Given the description of an element on the screen output the (x, y) to click on. 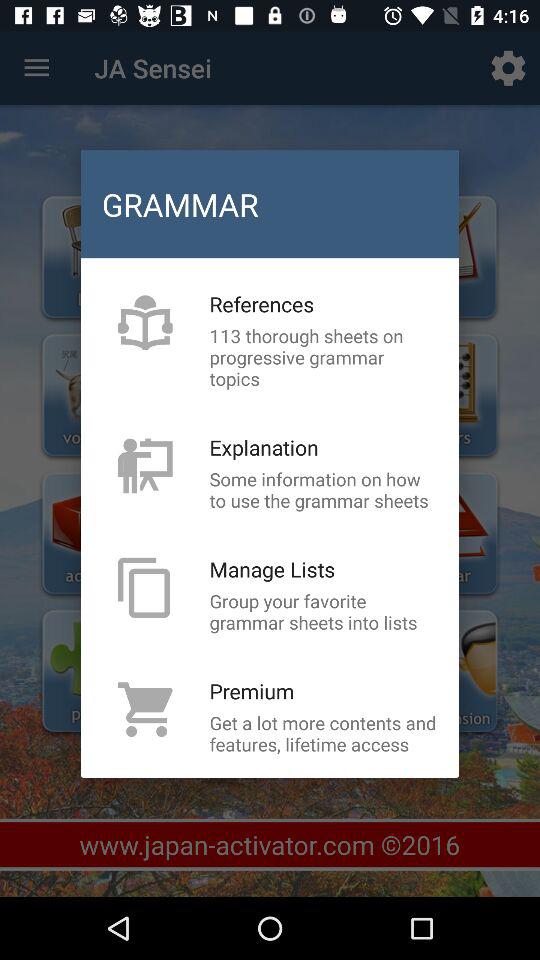
choose the icon below references (323, 357)
